Given the description of an element on the screen output the (x, y) to click on. 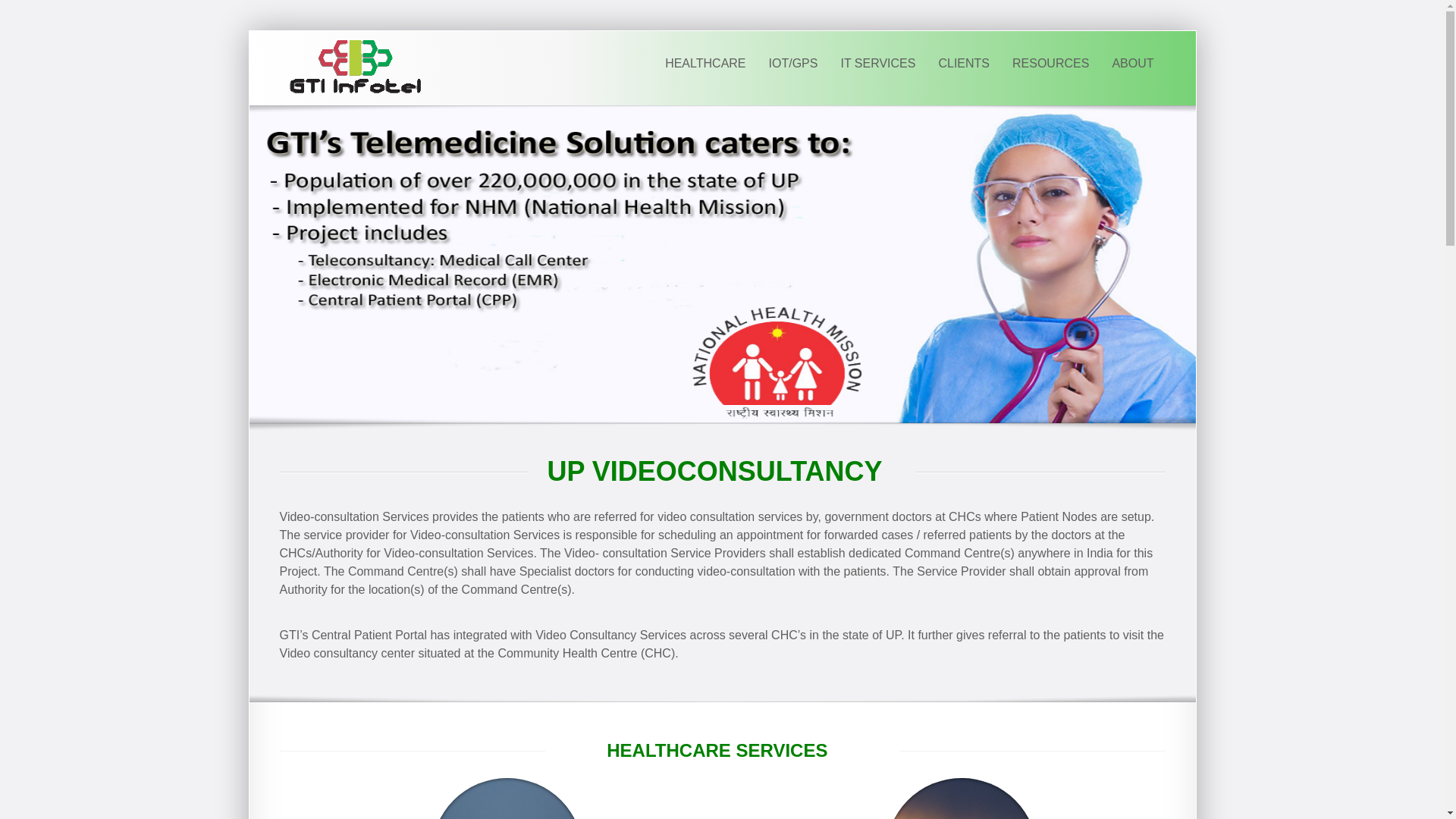
CLIENTS (963, 63)
HEALTHCARE (705, 63)
IT SERVICES (877, 63)
GTI Infotel: GPS Tracking (354, 67)
